Given the description of an element on the screen output the (x, y) to click on. 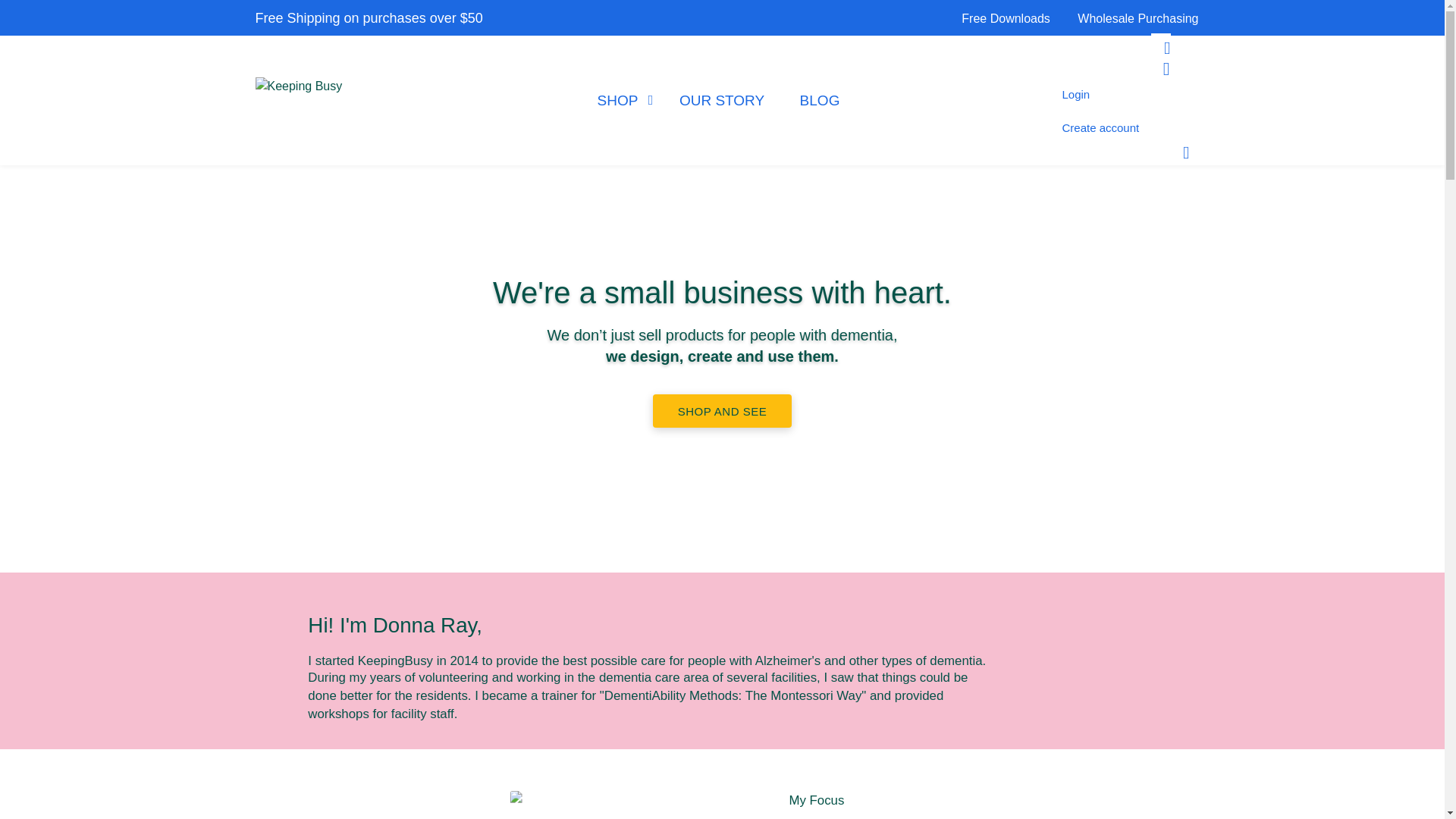
BLOG (819, 100)
Create account (1100, 127)
Free Downloads (1005, 18)
SHOP (620, 100)
Wholesale Purchasing (1131, 18)
SHOP AND SEE (722, 410)
Blog (819, 100)
OUR STORY (721, 100)
Our Story (721, 100)
Login (1075, 93)
